Given the description of an element on the screen output the (x, y) to click on. 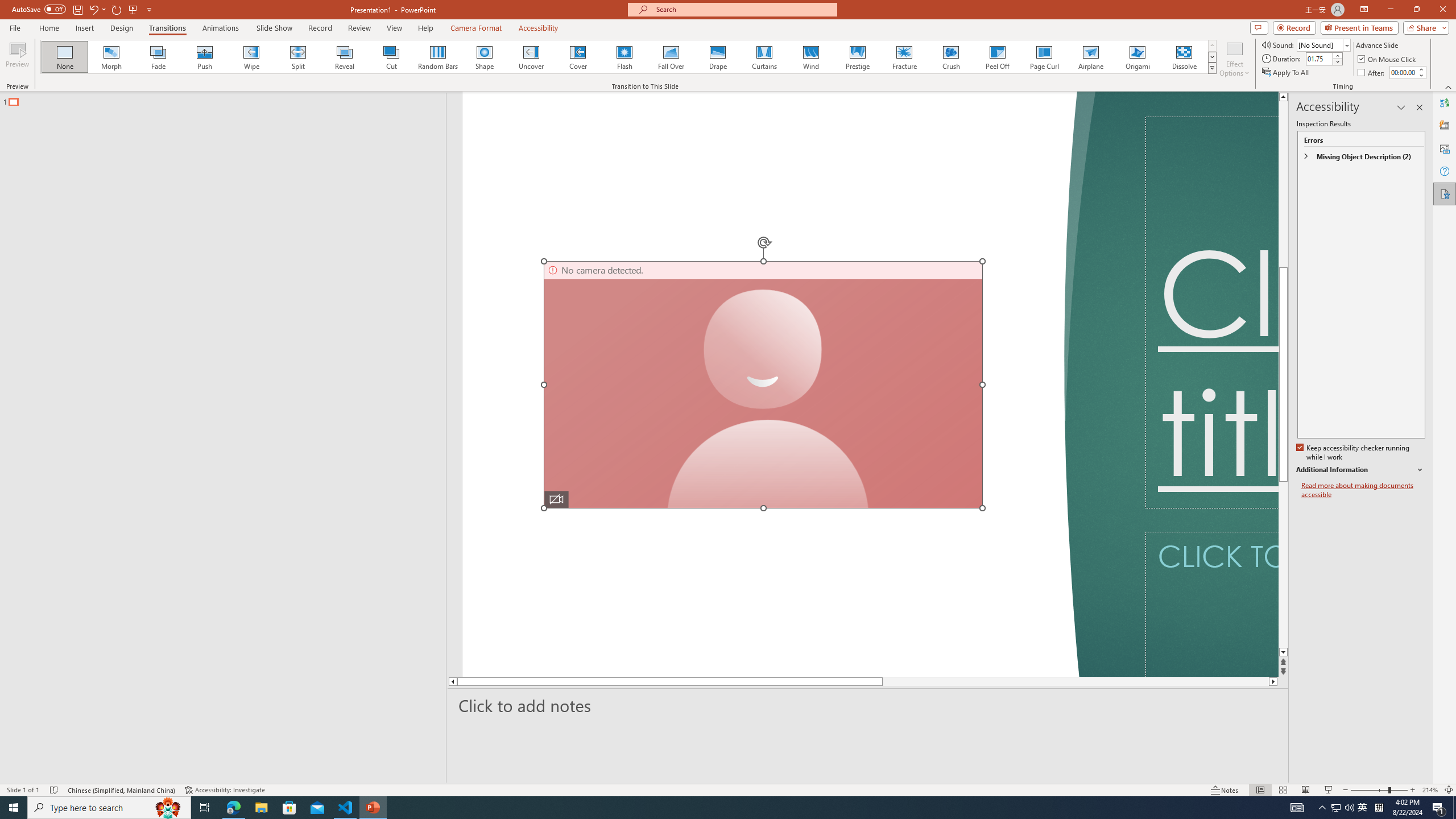
Translator (1444, 102)
Outline (227, 99)
Transition Effects (1212, 67)
Less (1420, 75)
Cut (391, 56)
Help (1444, 170)
Dissolve (1183, 56)
Slide Show (1328, 790)
Cover (577, 56)
AutomationID: AnimationTransitionGallery (628, 56)
Camera Format (475, 28)
Page up (1283, 266)
Apply To All (1286, 72)
